Given the description of an element on the screen output the (x, y) to click on. 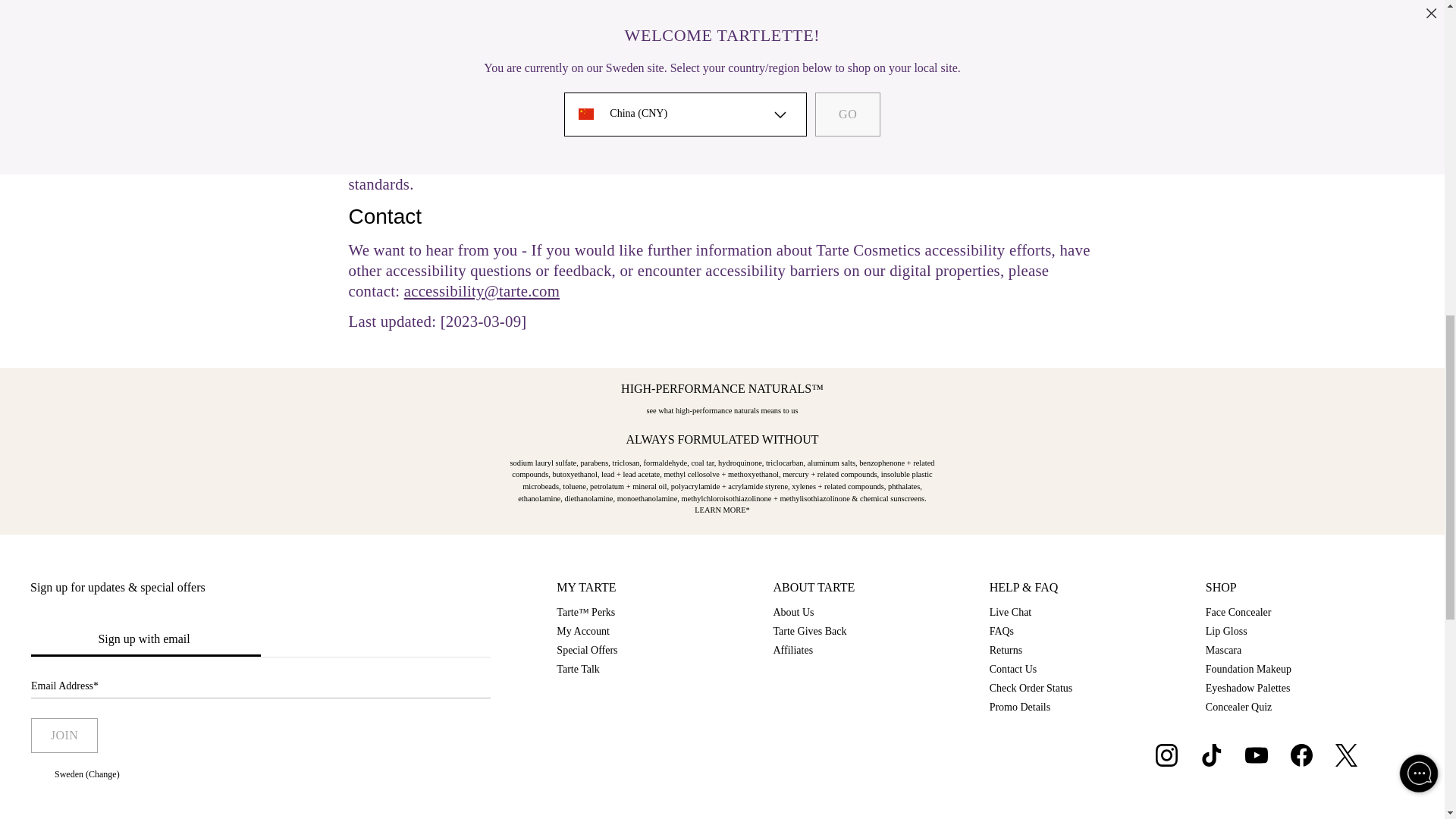
Go to Frequently Asked Questions (1006, 650)
Go to Contact Us (1013, 668)
Go to Frequently Asked Questions (1001, 631)
